Given the description of an element on the screen output the (x, y) to click on. 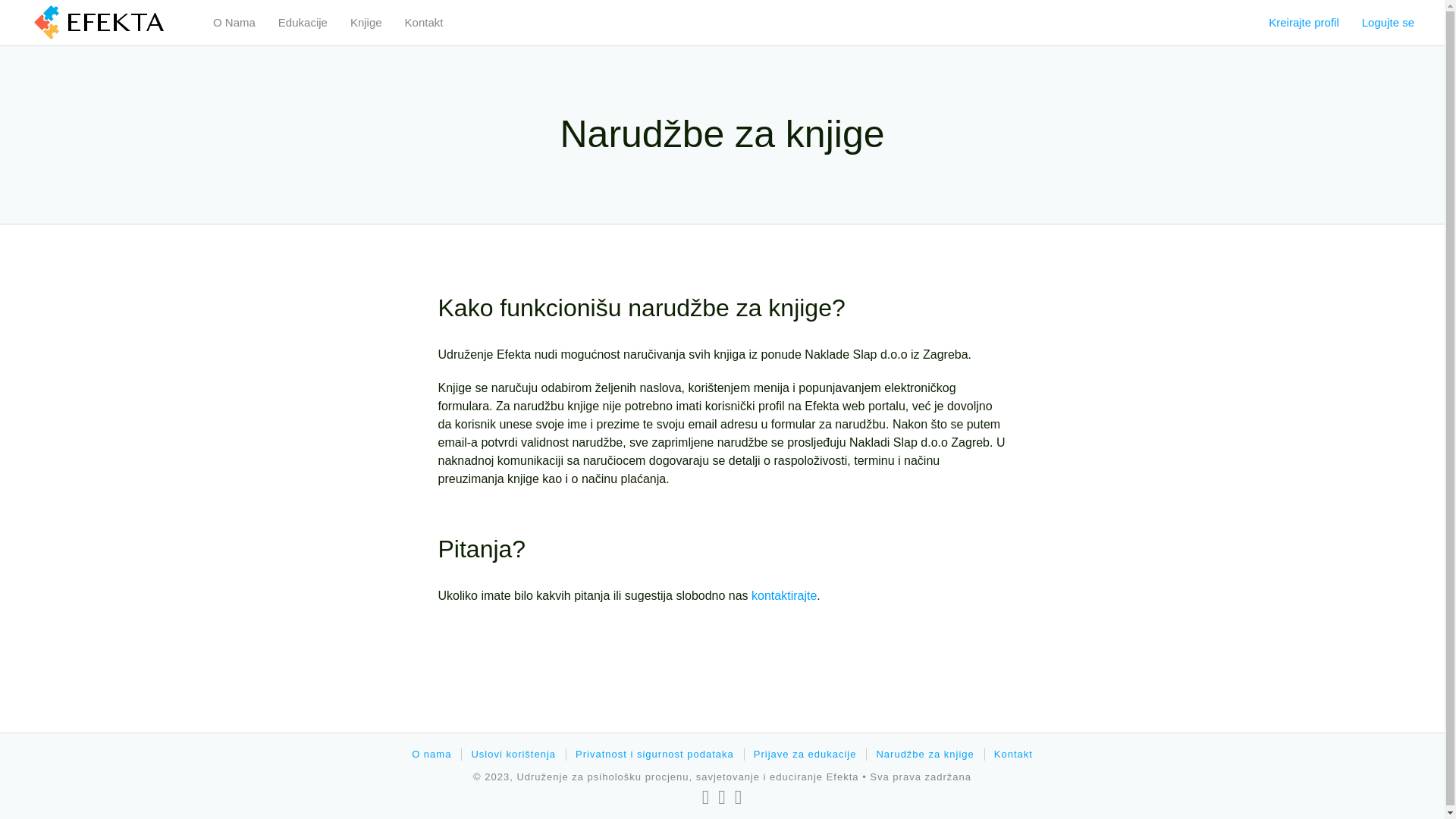
Kontakt Element type: text (1013, 753)
Privatnost i sigurnost podataka Element type: text (654, 753)
Kontakt Element type: text (424, 22)
kontaktirajte Element type: text (783, 595)
Prijave za edukacije Element type: text (804, 753)
Knjige Element type: text (365, 22)
O nama Element type: text (431, 753)
Logujte se Element type: text (1387, 22)
Edukacije Element type: text (302, 22)
O Nama Element type: text (233, 22)
Kreirajte profil Element type: text (1303, 22)
